Given the description of an element on the screen output the (x, y) to click on. 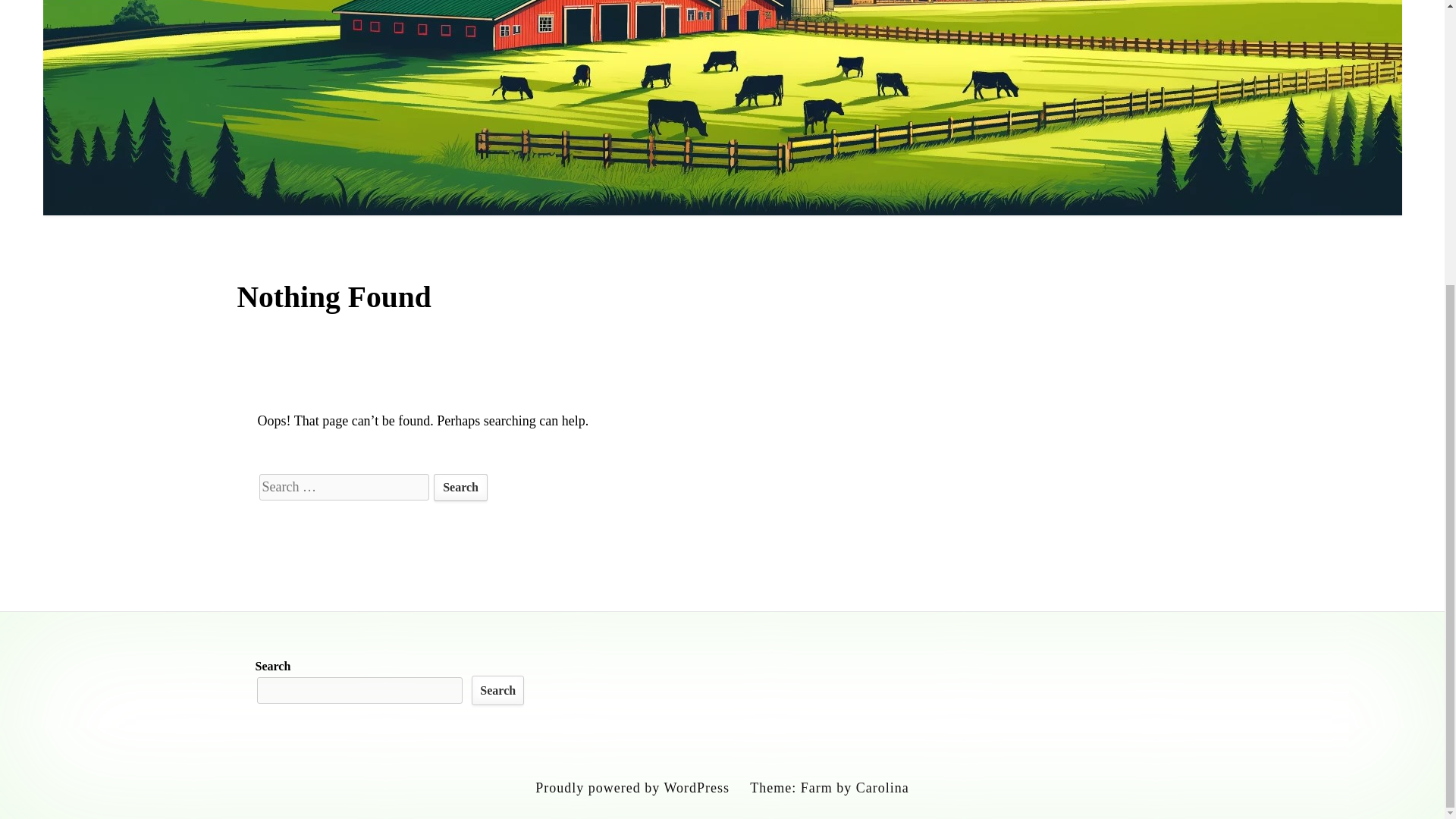
Search (460, 487)
Search (460, 487)
Theme: Farm by Carolina (828, 787)
Search (460, 487)
Search (497, 690)
Proudly powered by WordPress (632, 787)
